Given the description of an element on the screen output the (x, y) to click on. 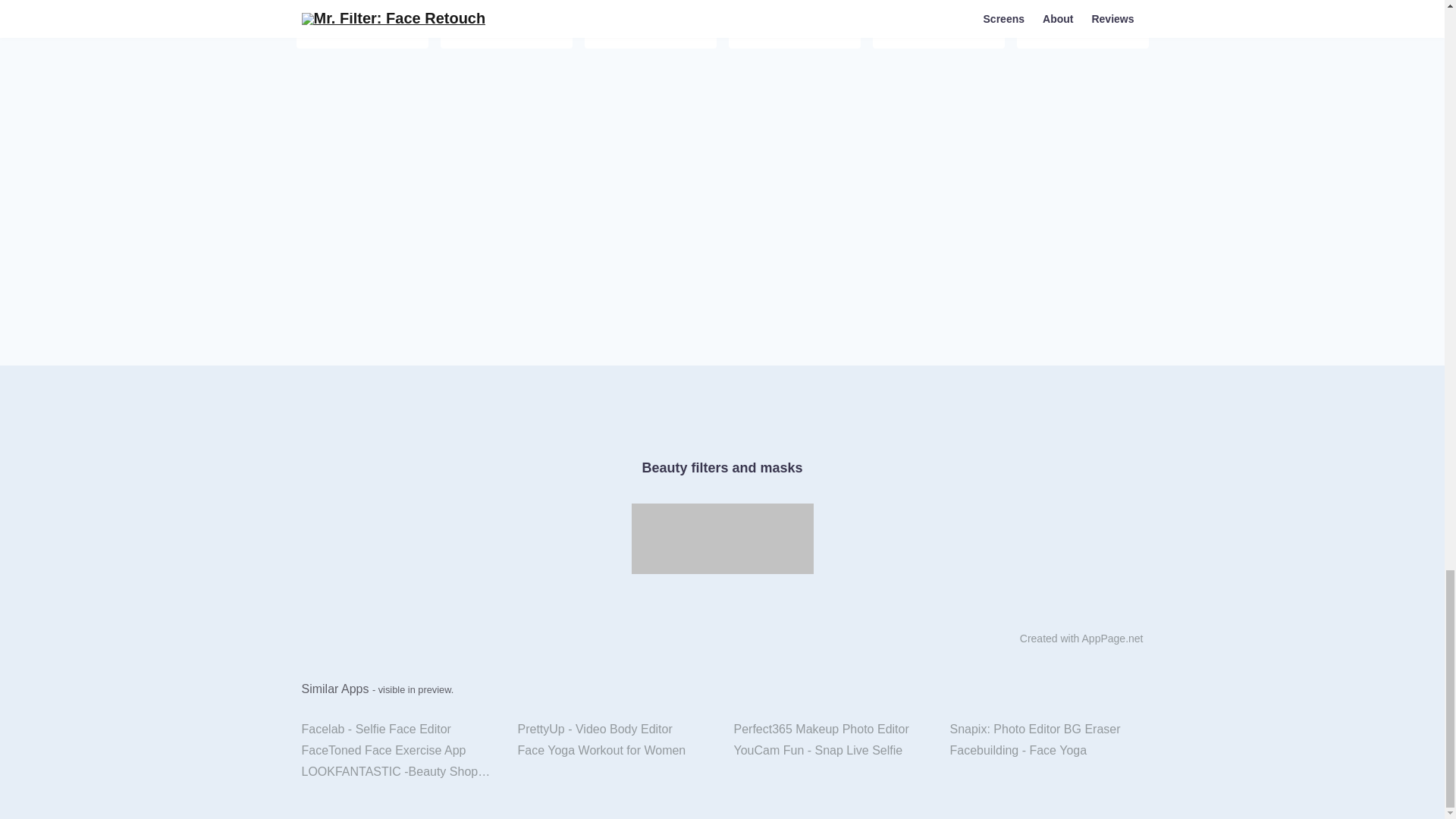
AppPage.net (1111, 638)
LOOKFANTASTIC -Beauty Shopping (397, 771)
Perfect365 Makeup Photo Editor (829, 729)
Facelab - Selfie Face Editor (397, 729)
Face Yoga Workout for Women (614, 750)
FaceToned Face Exercise App (397, 750)
PrettyUp - Video Body Editor (614, 729)
Snapix: Photo Editor BG Eraser (1046, 729)
Facebuilding - Face Yoga (1046, 750)
